Given the description of an element on the screen output the (x, y) to click on. 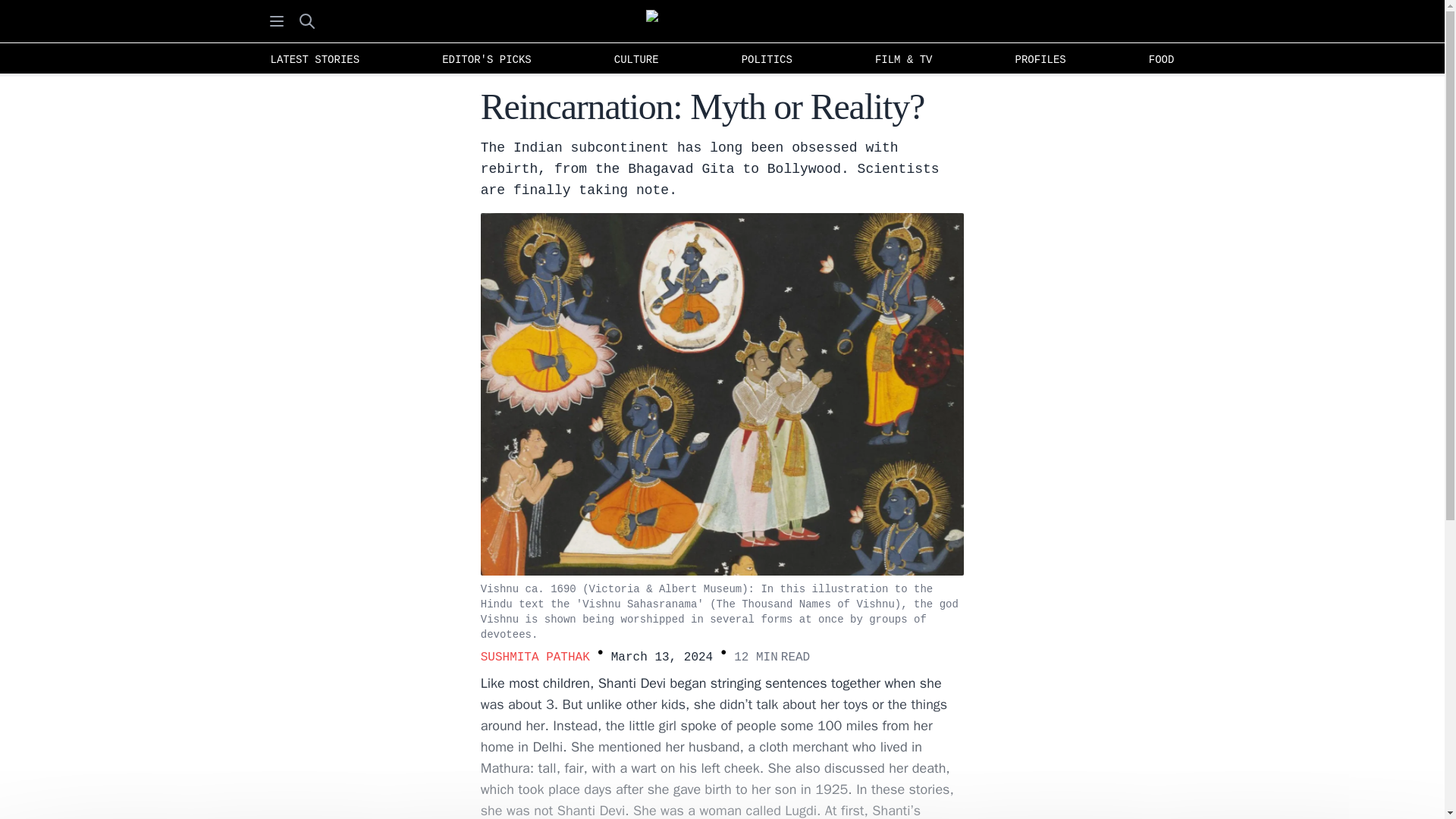
Search (306, 20)
CULTURE (636, 58)
FOOD (1161, 58)
SUSHMITA PATHAK (534, 657)
Open menu (275, 20)
EDITOR'S PICKS (486, 58)
POLITICS (767, 58)
PROFILES (1040, 58)
LATEST STORIES (314, 58)
